Given the description of an element on the screen output the (x, y) to click on. 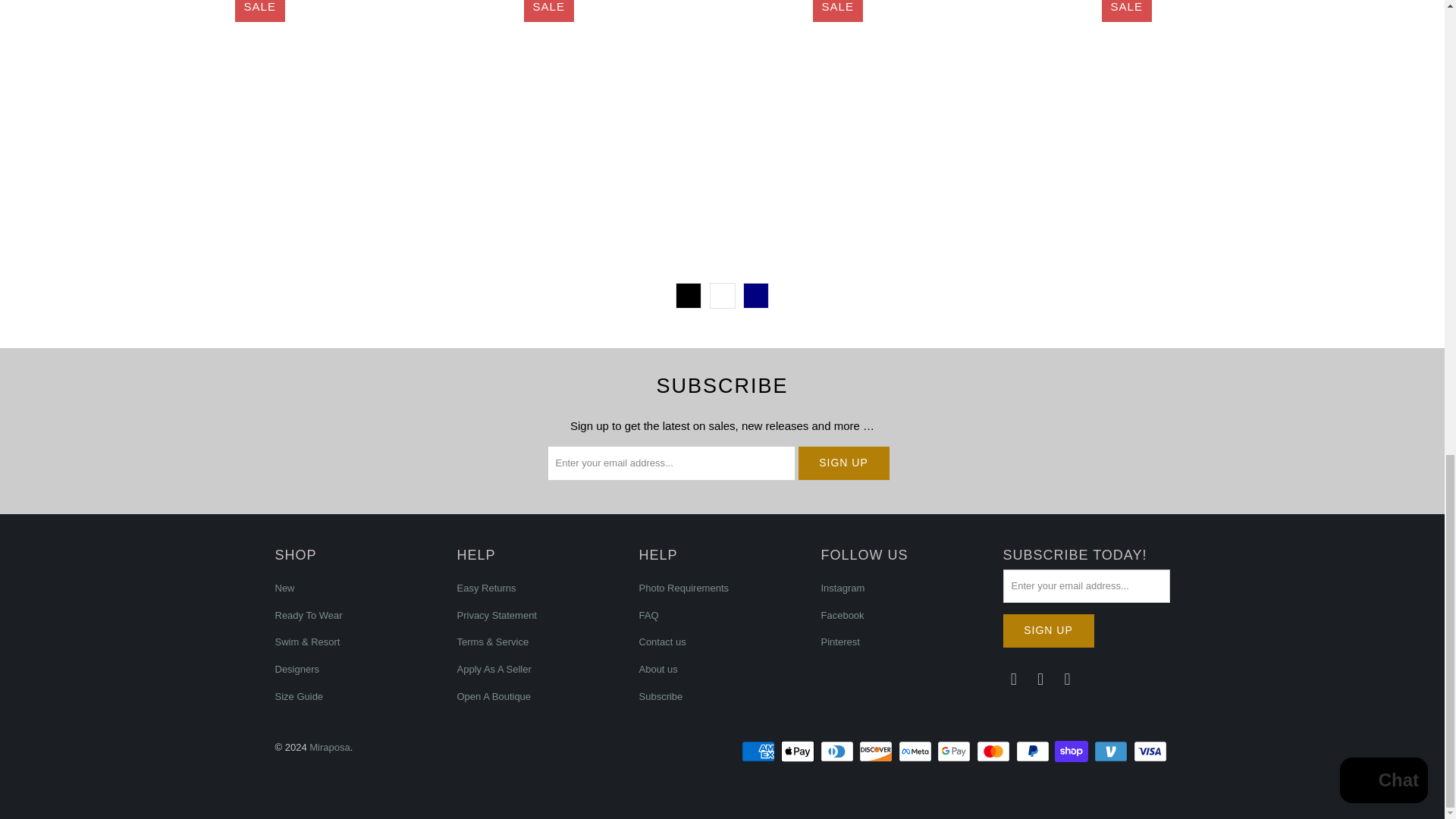
Meta Pay (916, 751)
Visa (1150, 751)
PayPal (1034, 751)
Shop Pay (1072, 751)
Venmo (1112, 751)
Diners Club (839, 751)
Discover (877, 751)
Apple Pay (798, 751)
Google Pay (955, 751)
Sign Up (1048, 630)
Sign Up (842, 462)
Mastercard (994, 751)
American Express (759, 751)
